Given the description of an element on the screen output the (x, y) to click on. 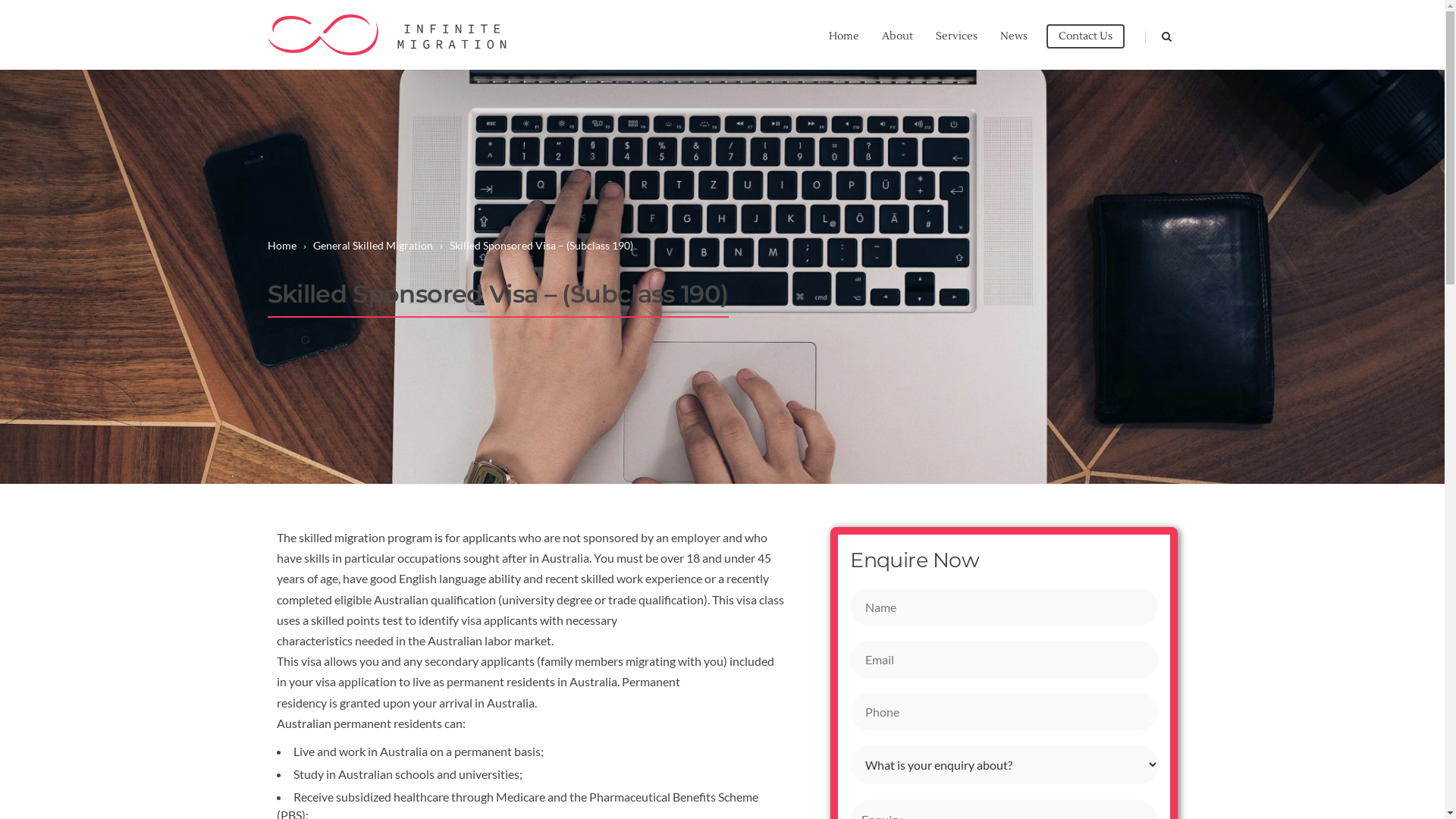
Home Element type: text (843, 34)
Home Element type: text (286, 246)
News Element type: text (1013, 34)
About Element type: text (897, 34)
Services Element type: text (955, 34)
| Element type: text (1140, 34)
Contact Us Element type: text (1085, 36)
General Skilled Migration Element type: text (378, 246)
